Given the description of an element on the screen output the (x, y) to click on. 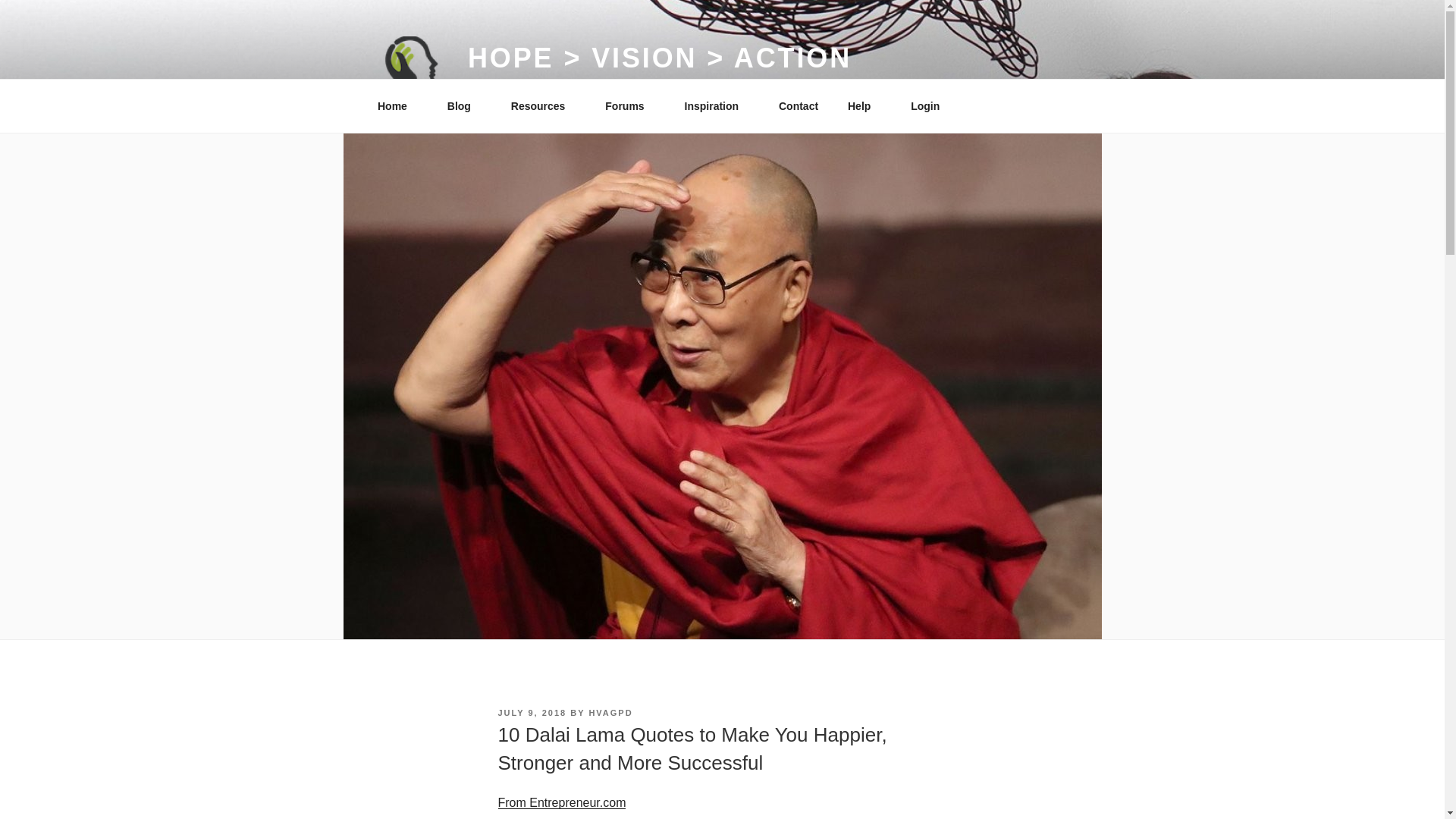
JULY 9, 2018 (531, 712)
Home (397, 106)
Forums (630, 106)
Blog (464, 106)
Resources (543, 106)
Contact (798, 106)
Help (863, 106)
From Entrepreneur.com (561, 802)
Login (930, 106)
Inspiration (716, 106)
